Given the description of an element on the screen output the (x, y) to click on. 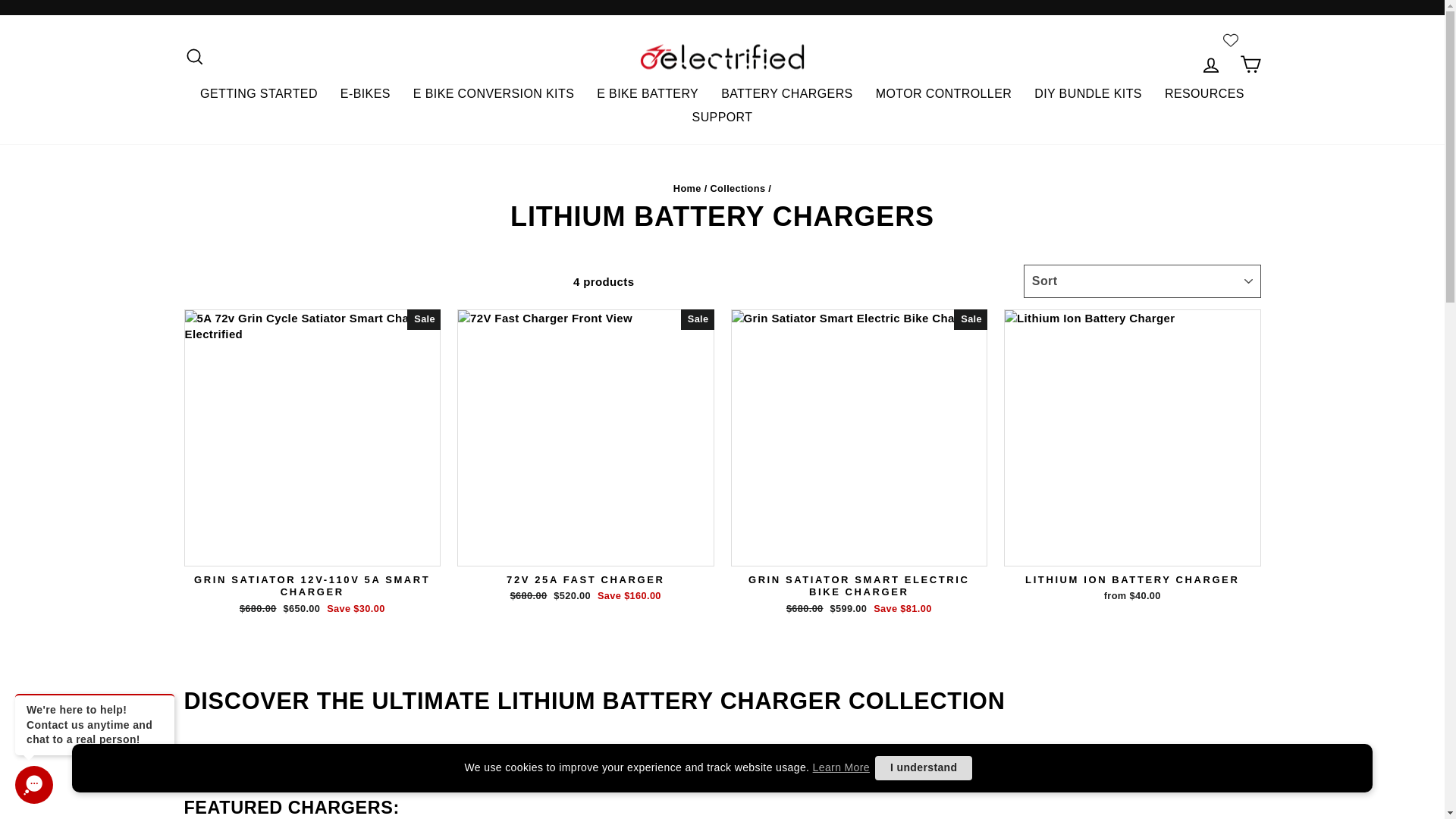
Back to the frontpage (686, 188)
